Given the description of an element on the screen output the (x, y) to click on. 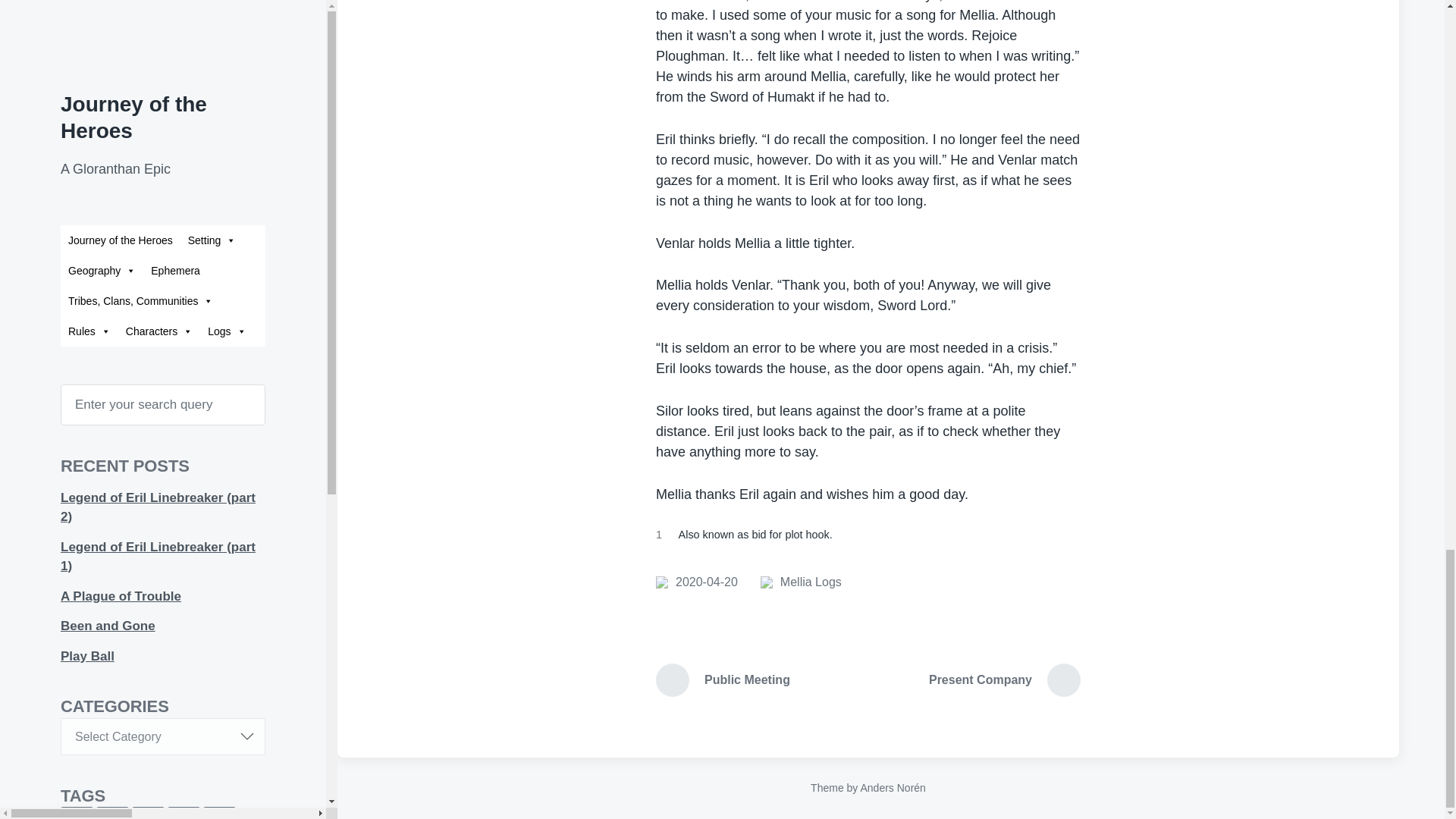
Private Meeting (697, 582)
